Given the description of an element on the screen output the (x, y) to click on. 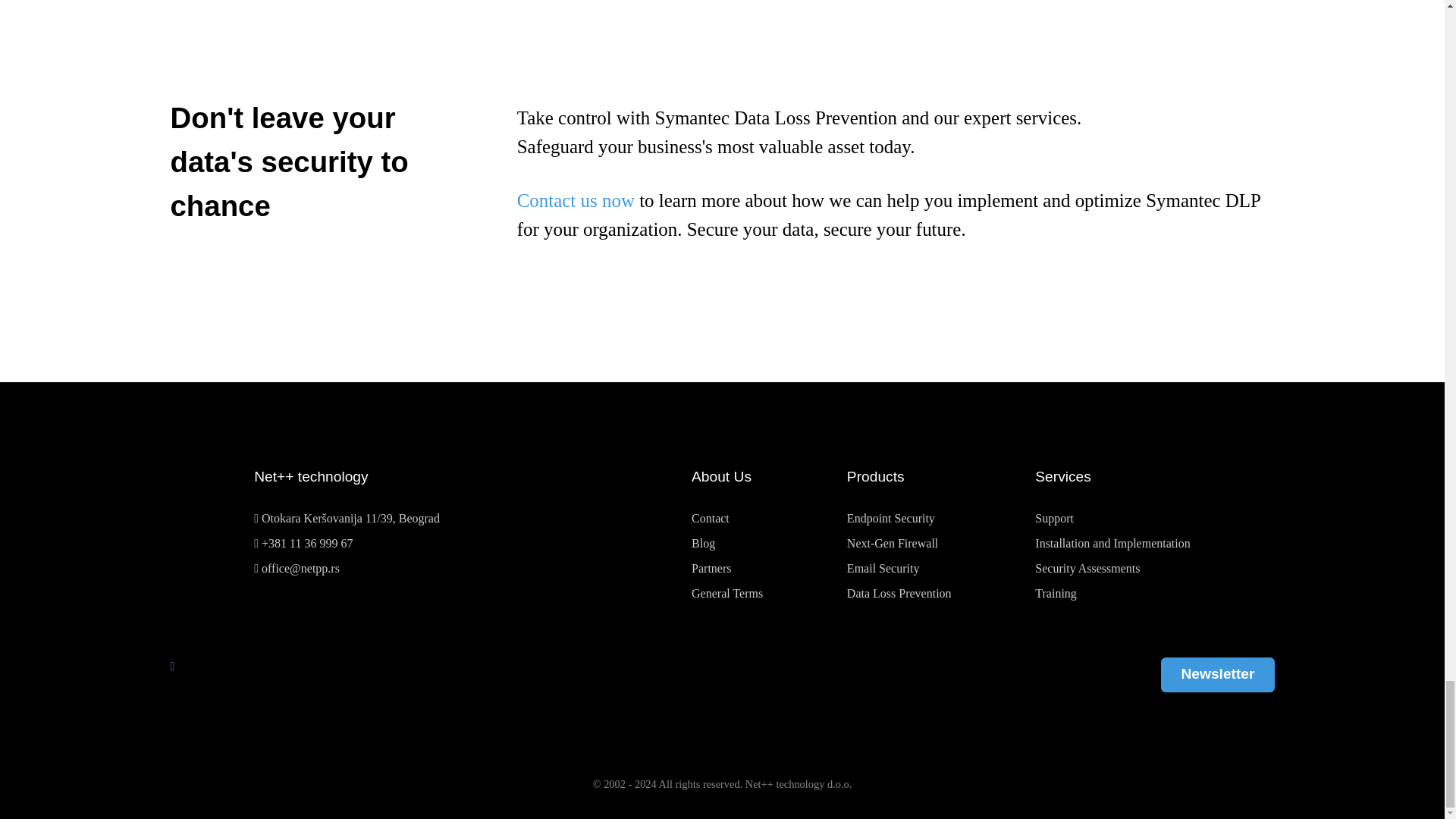
General Terms (726, 593)
Next-Gen Firewall (892, 543)
Contact (710, 517)
Endpoint Security (890, 517)
Partners (710, 567)
Blog (702, 543)
